Given the description of an element on the screen output the (x, y) to click on. 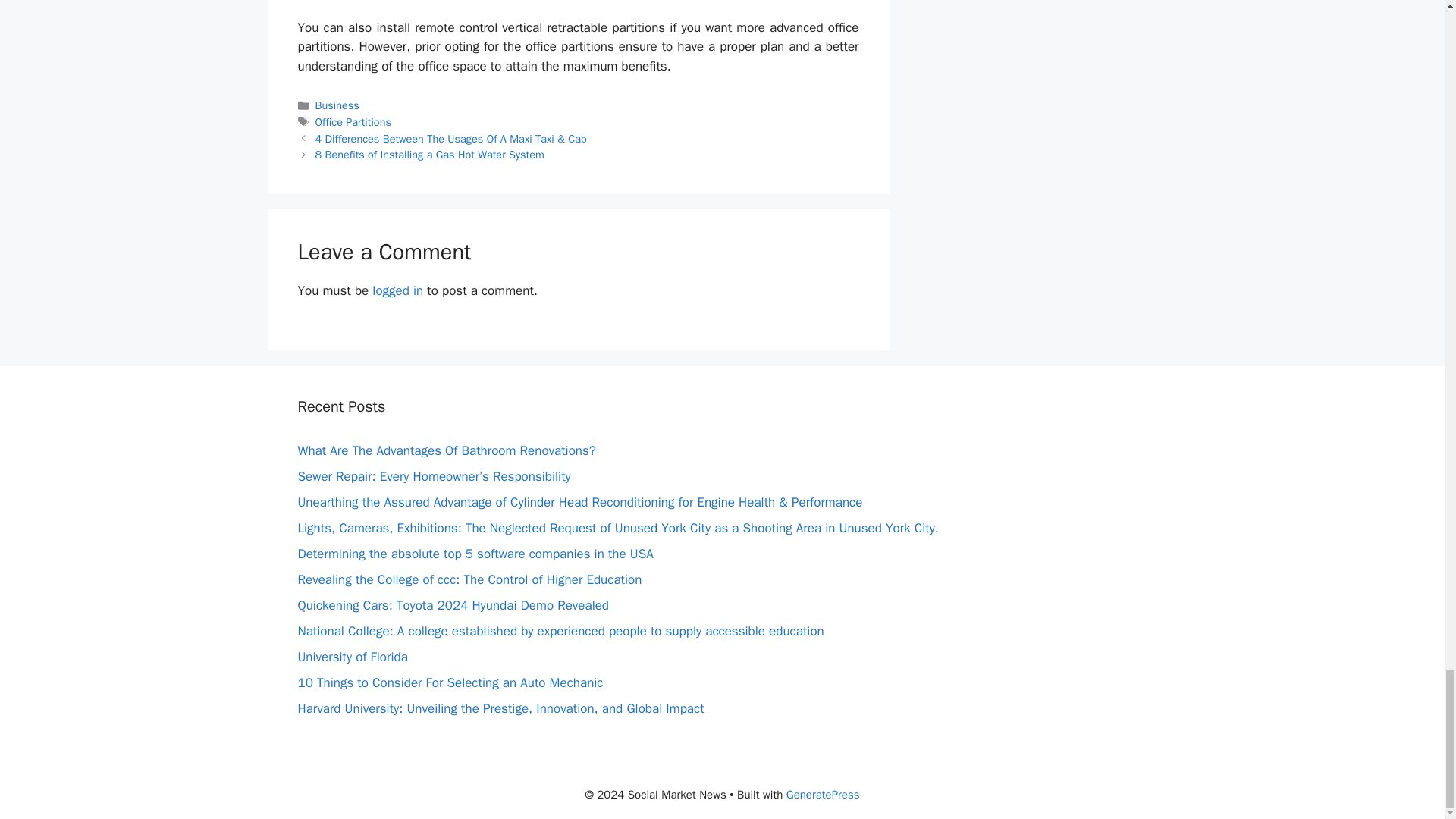
Business (337, 105)
University of Florida (352, 657)
Quickening Cars: Toyota 2024 Hyundai Demo Revealed (452, 605)
logged in (397, 290)
Office Partitions (353, 121)
GeneratePress (823, 794)
Determining the absolute top 5 software companies in the USA (474, 553)
10 Things to Consider For Selecting an Auto Mechanic (449, 682)
8 Benefits of Installing a Gas Hot Water System (429, 154)
What Are The Advantages Of Bathroom Renovations? (446, 450)
